Given the description of an element on the screen output the (x, y) to click on. 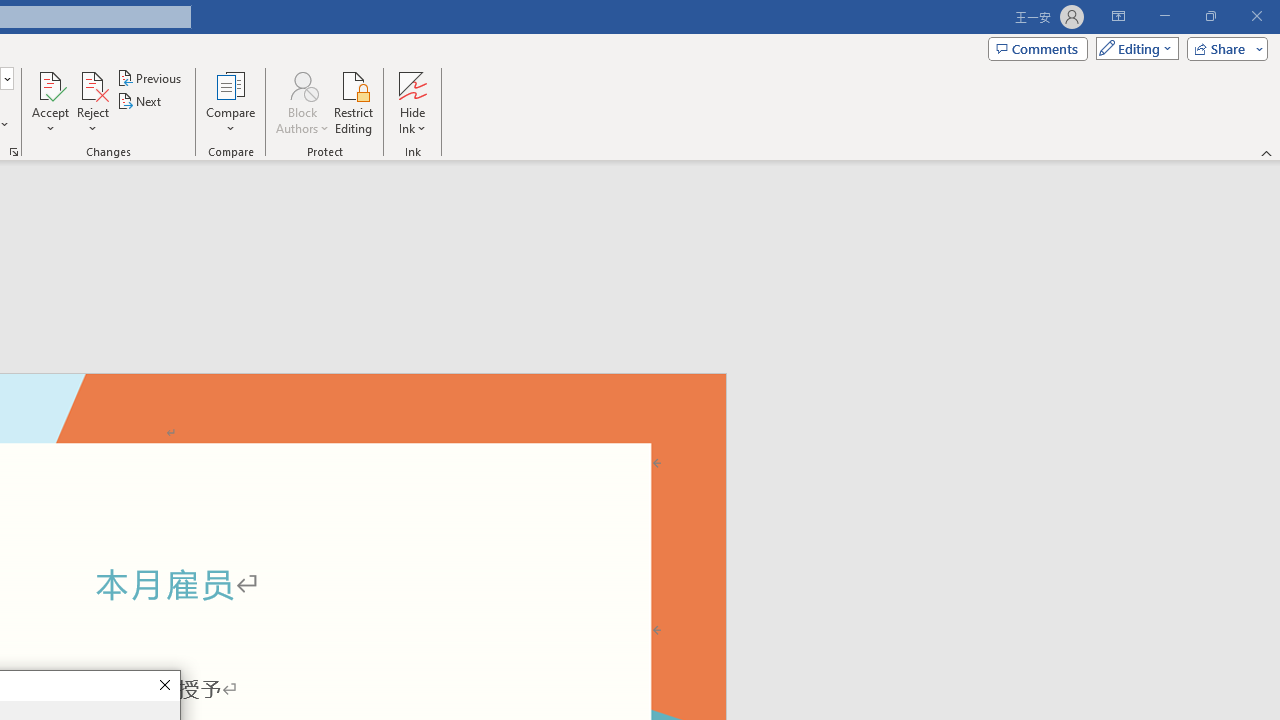
Block Authors (302, 102)
Next (140, 101)
Hide Ink (412, 102)
Block Authors (302, 84)
Previous (150, 78)
Accept (50, 102)
Hide Ink (412, 84)
Reject (92, 102)
